Given the description of an element on the screen output the (x, y) to click on. 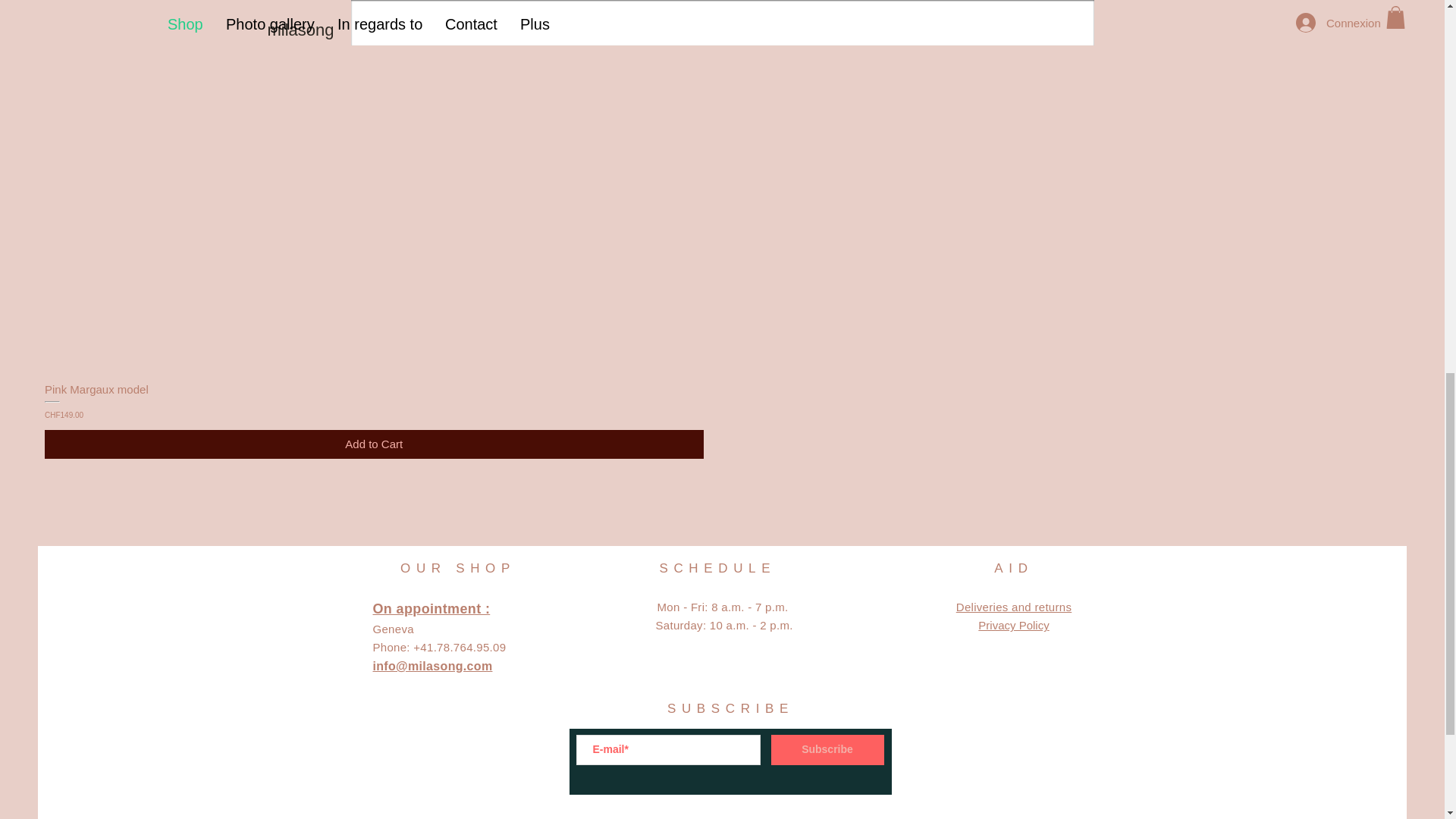
Add to Cart (374, 444)
Deliveries and returns (1013, 606)
Subscribe (826, 749)
Mon - Fri: 8 a.m. - 7 p.m. (723, 606)
Saturday: 10 a.m. - 2 p.m. (723, 625)
Privacy Policy (1013, 625)
